Given the description of an element on the screen output the (x, y) to click on. 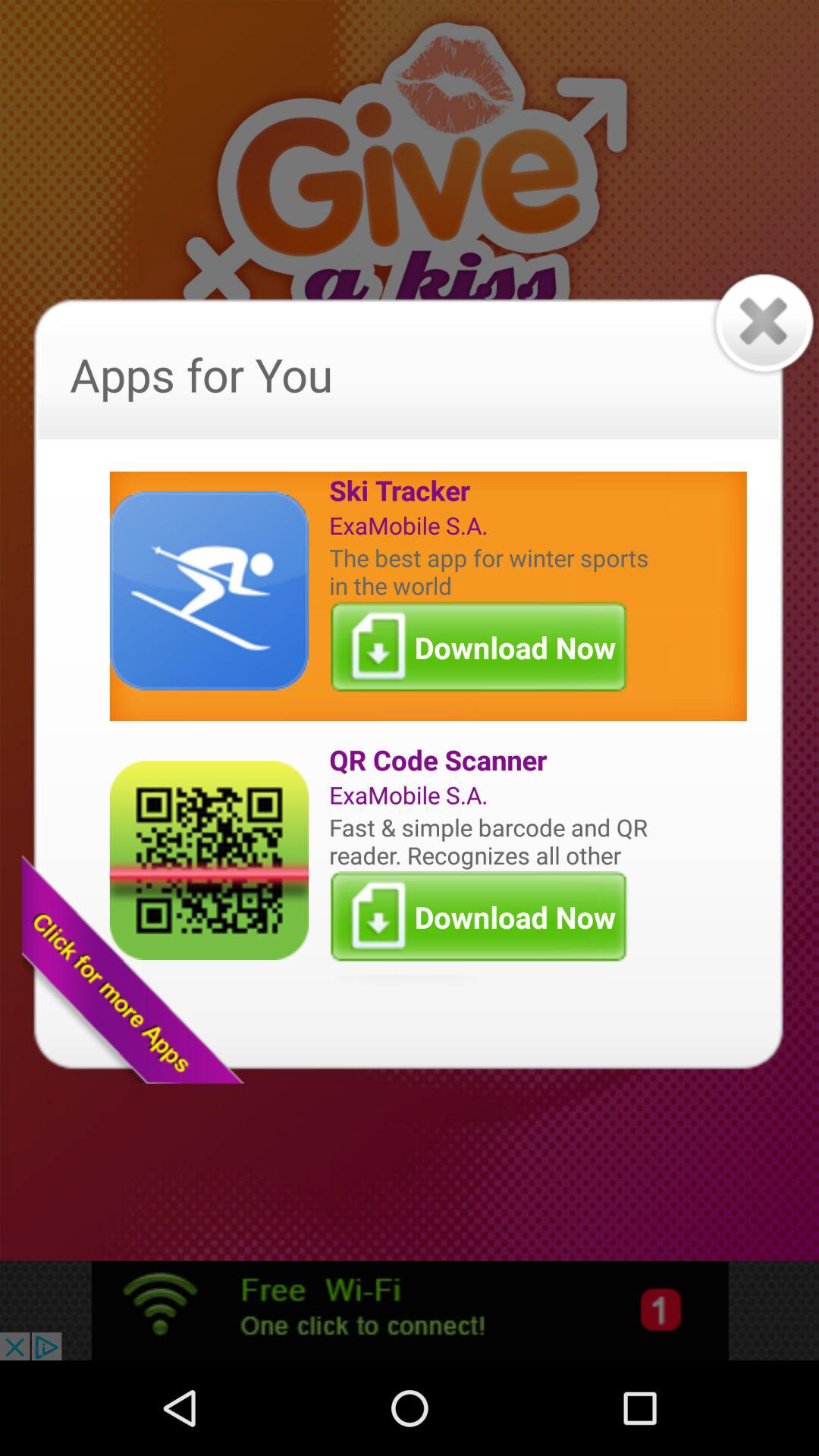
launch the app below the examobile s.a. app (492, 841)
